Given the description of an element on the screen output the (x, y) to click on. 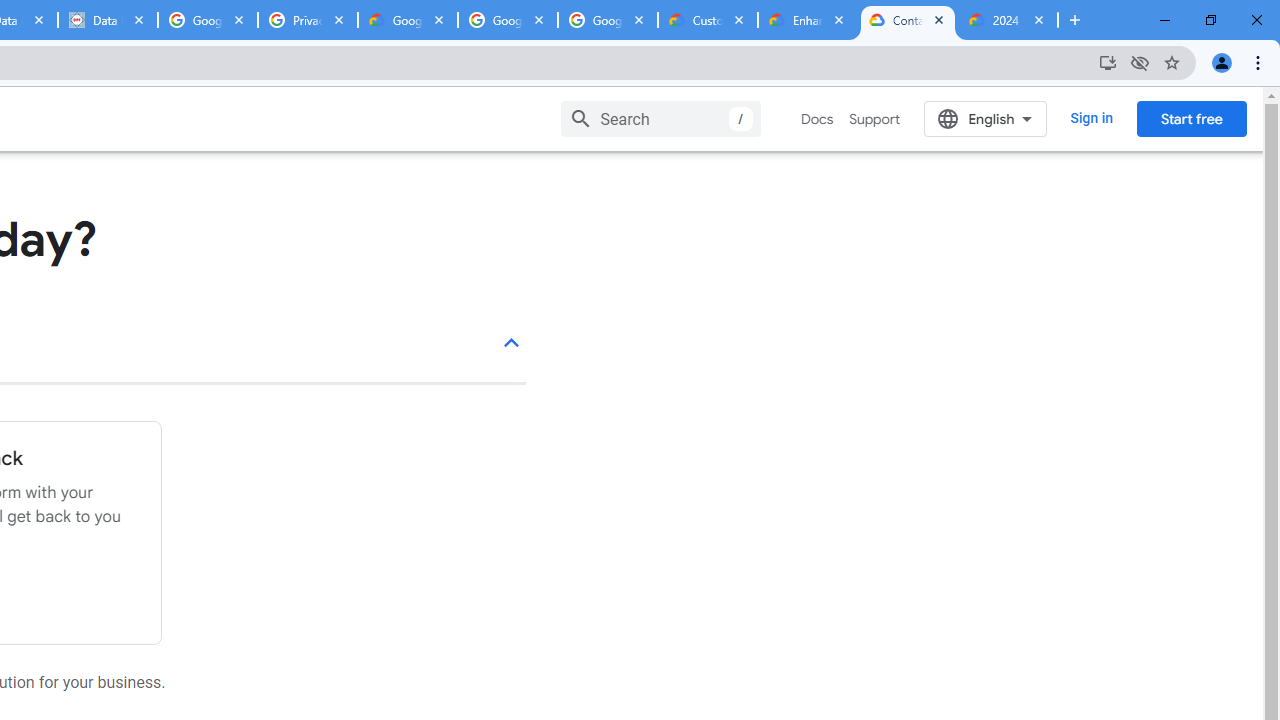
Support (874, 119)
English (985, 118)
Google Workspace - Specific Terms (508, 20)
Google Cloud Terms Directory | Google Cloud (408, 20)
